Given the description of an element on the screen output the (x, y) to click on. 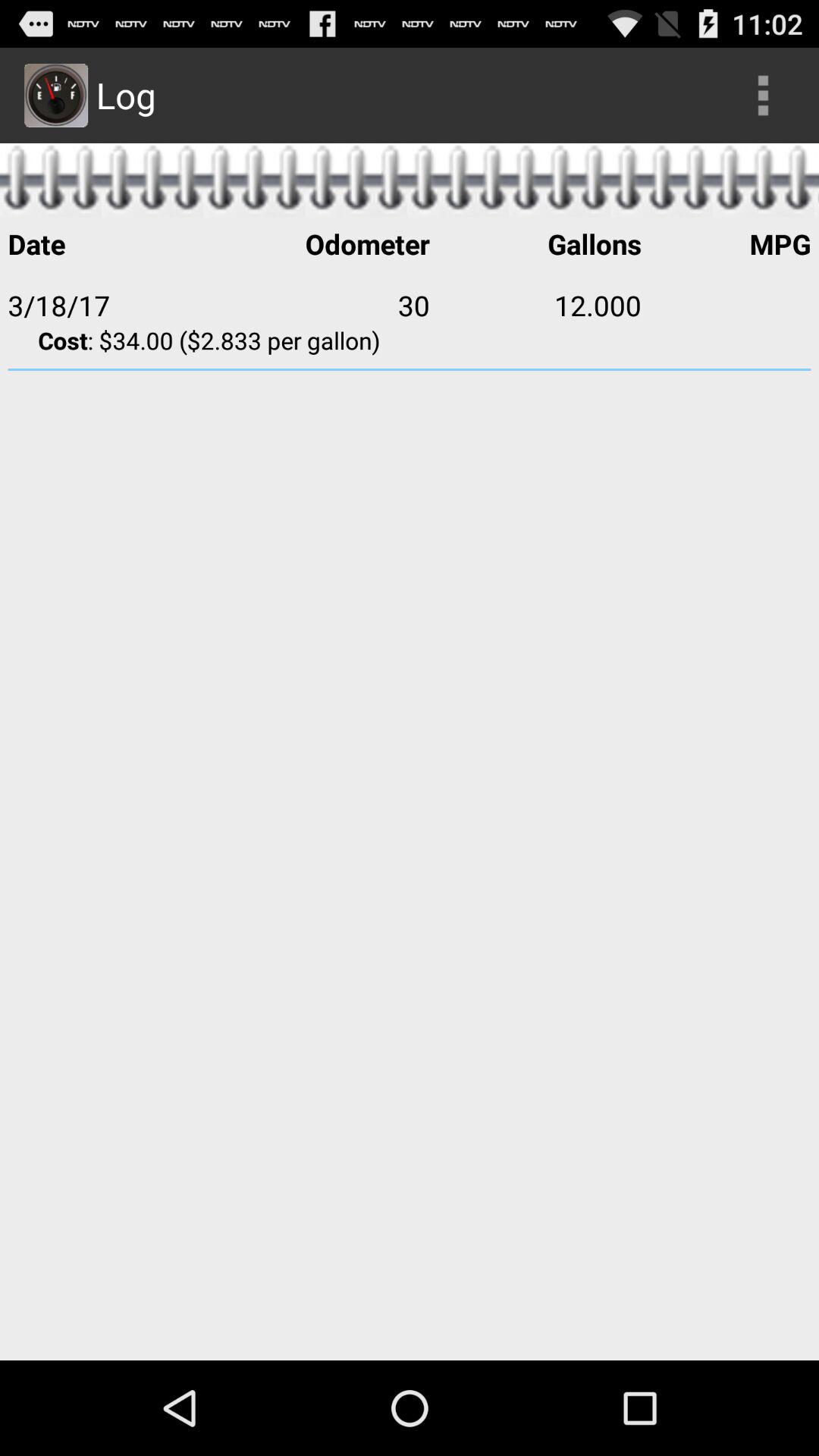
scroll until the cost 34 00 (409, 340)
